Given the description of an element on the screen output the (x, y) to click on. 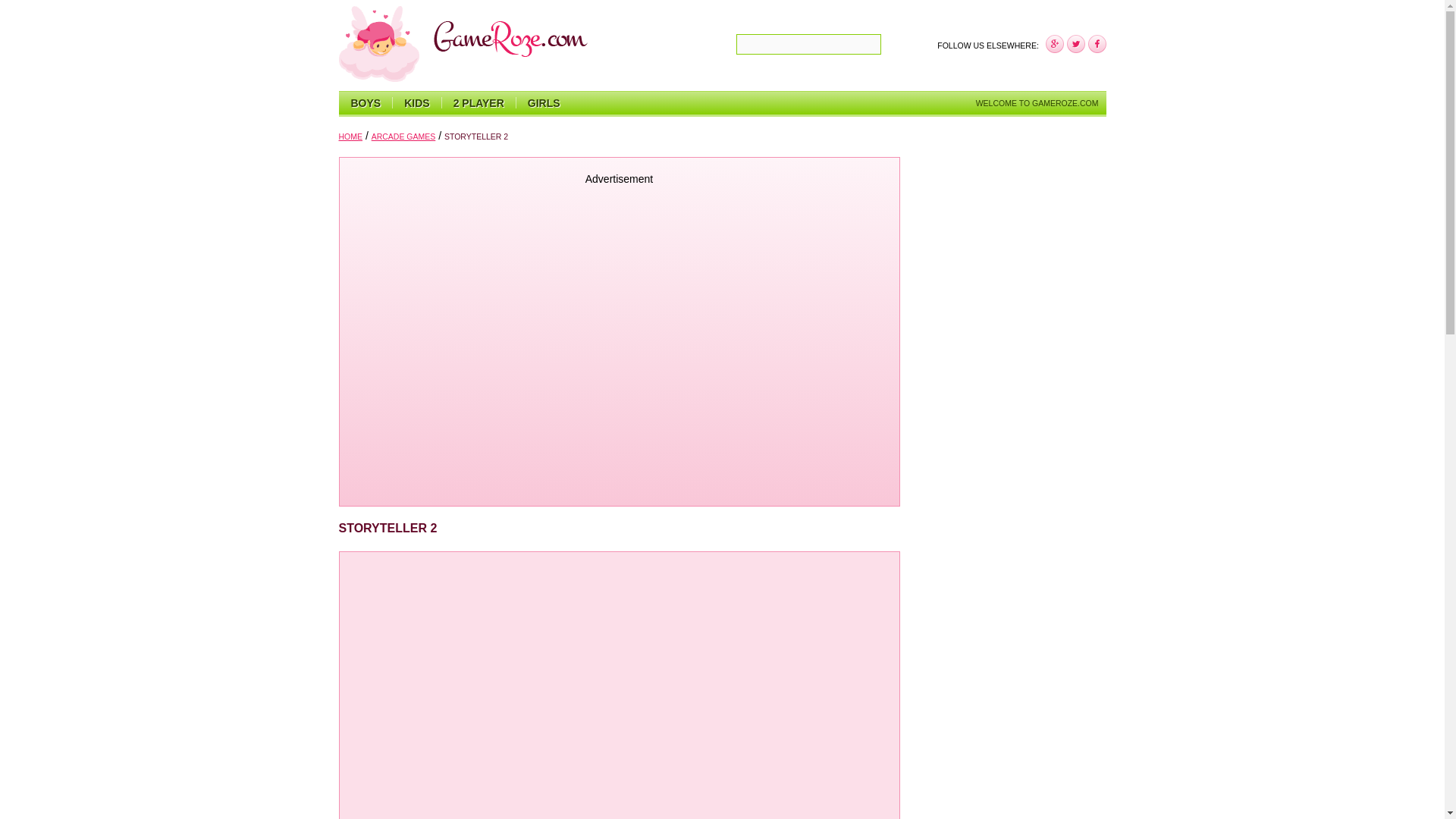
GIRLS (543, 102)
facebook (1054, 44)
ARCADE GAMES (403, 135)
HOME (349, 135)
twitter (1075, 44)
KIDS (416, 102)
BOYS (365, 102)
WELCOME TO GAMEROZE.COM (1037, 103)
2 PLAYER (478, 102)
